Given the description of an element on the screen output the (x, y) to click on. 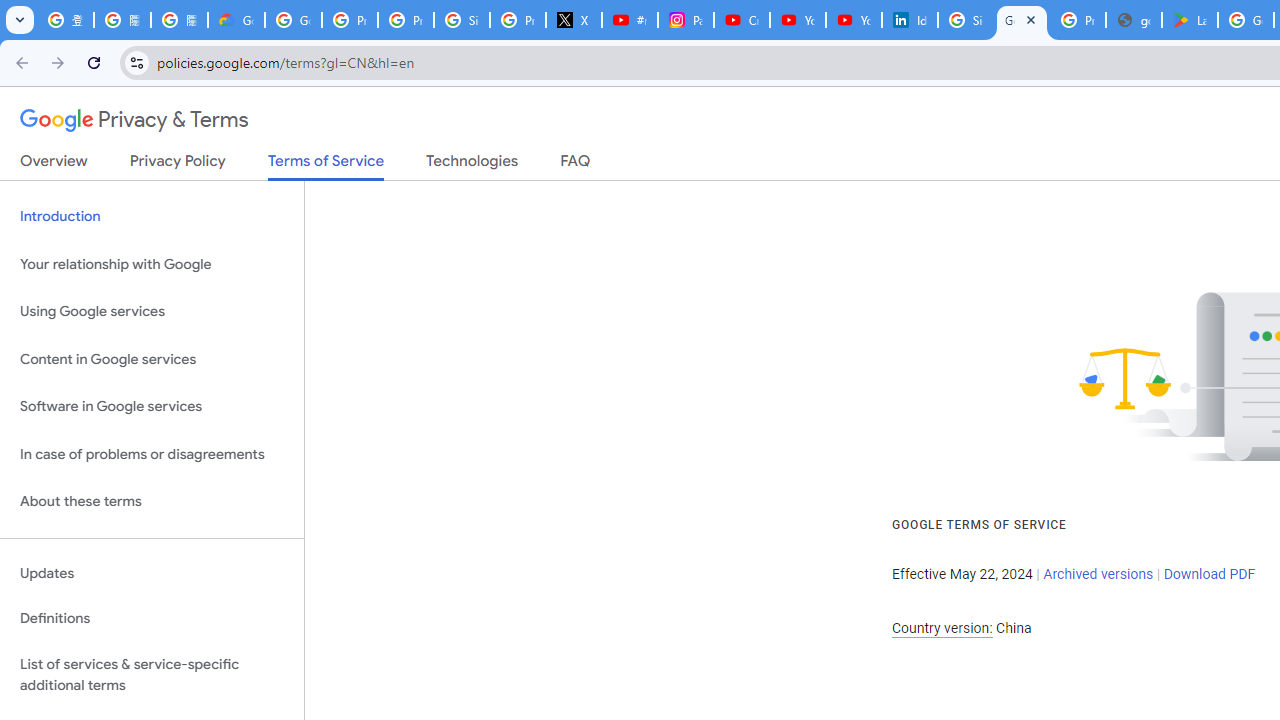
Sign in - Google Accounts (461, 20)
Privacy Help Center - Policies Help (405, 20)
About these terms (152, 502)
